Given the description of an element on the screen output the (x, y) to click on. 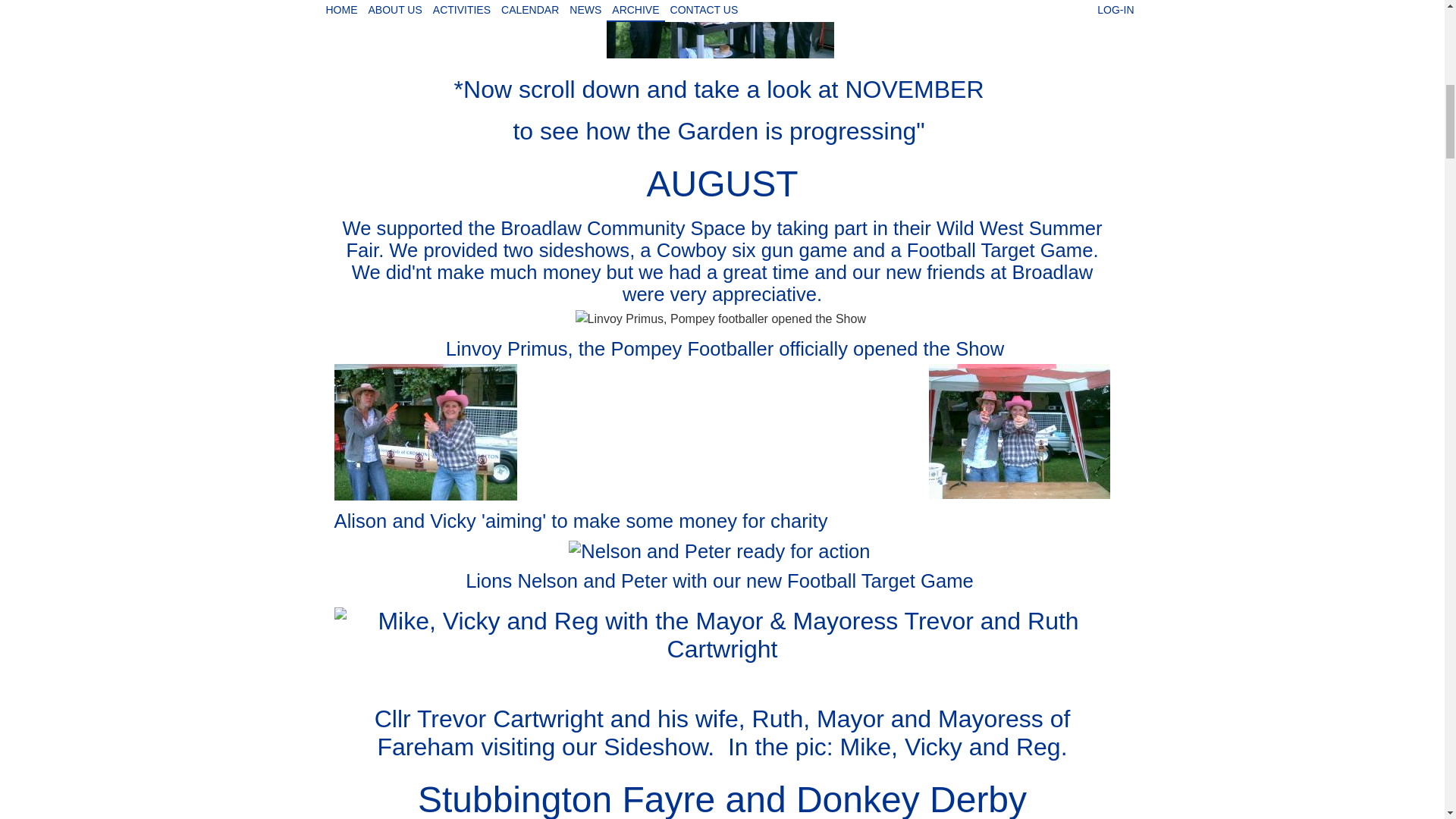
Alison and Vicky ready to take on all comers. (425, 431)
Nelson and Peter ready for action (719, 551)
Linvoy Primus, Pompey footballer opened the Show (720, 318)
Aiming to make some money for charity (1018, 430)
Lunch time at Baycroft (720, 29)
